Given the description of an element on the screen output the (x, y) to click on. 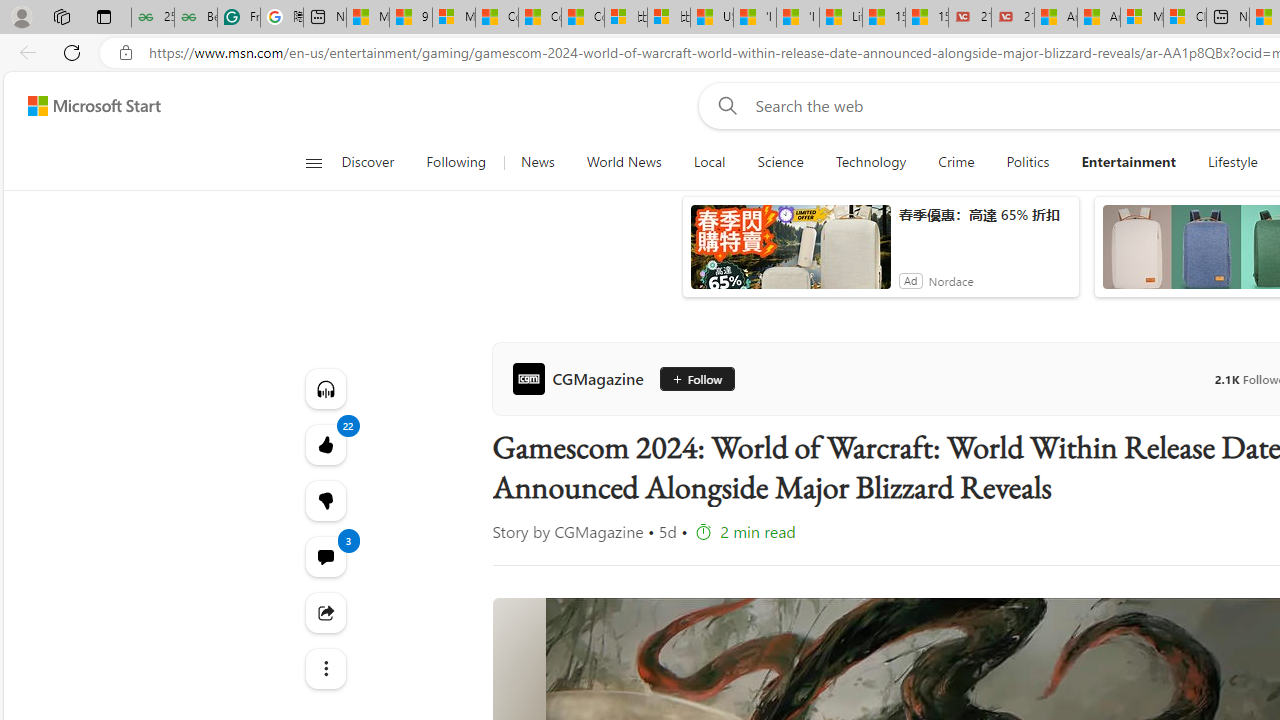
View comments 3 Comment (324, 556)
